Given the description of an element on the screen output the (x, y) to click on. 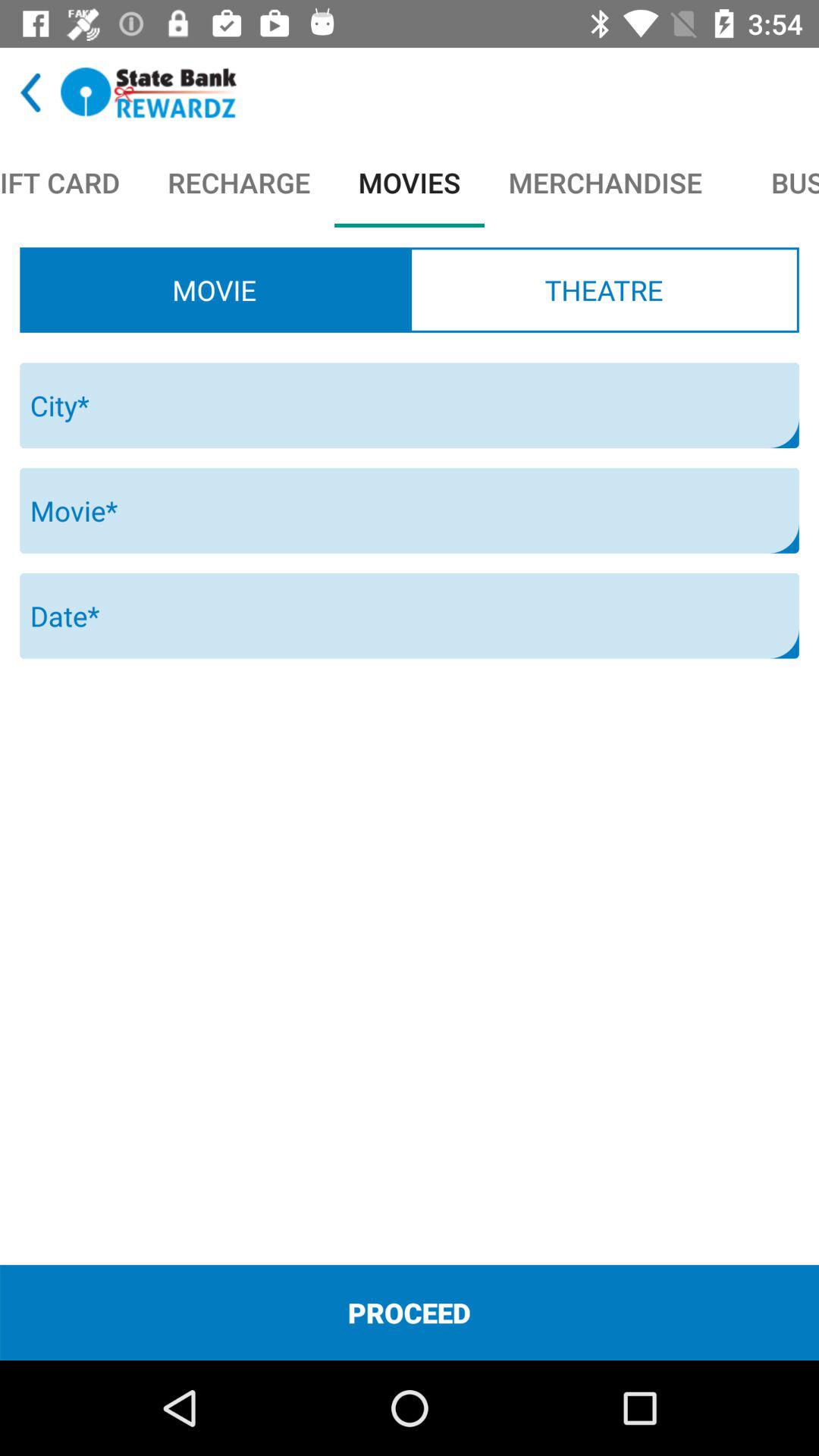
turn on the proceed (409, 1312)
